Given the description of an element on the screen output the (x, y) to click on. 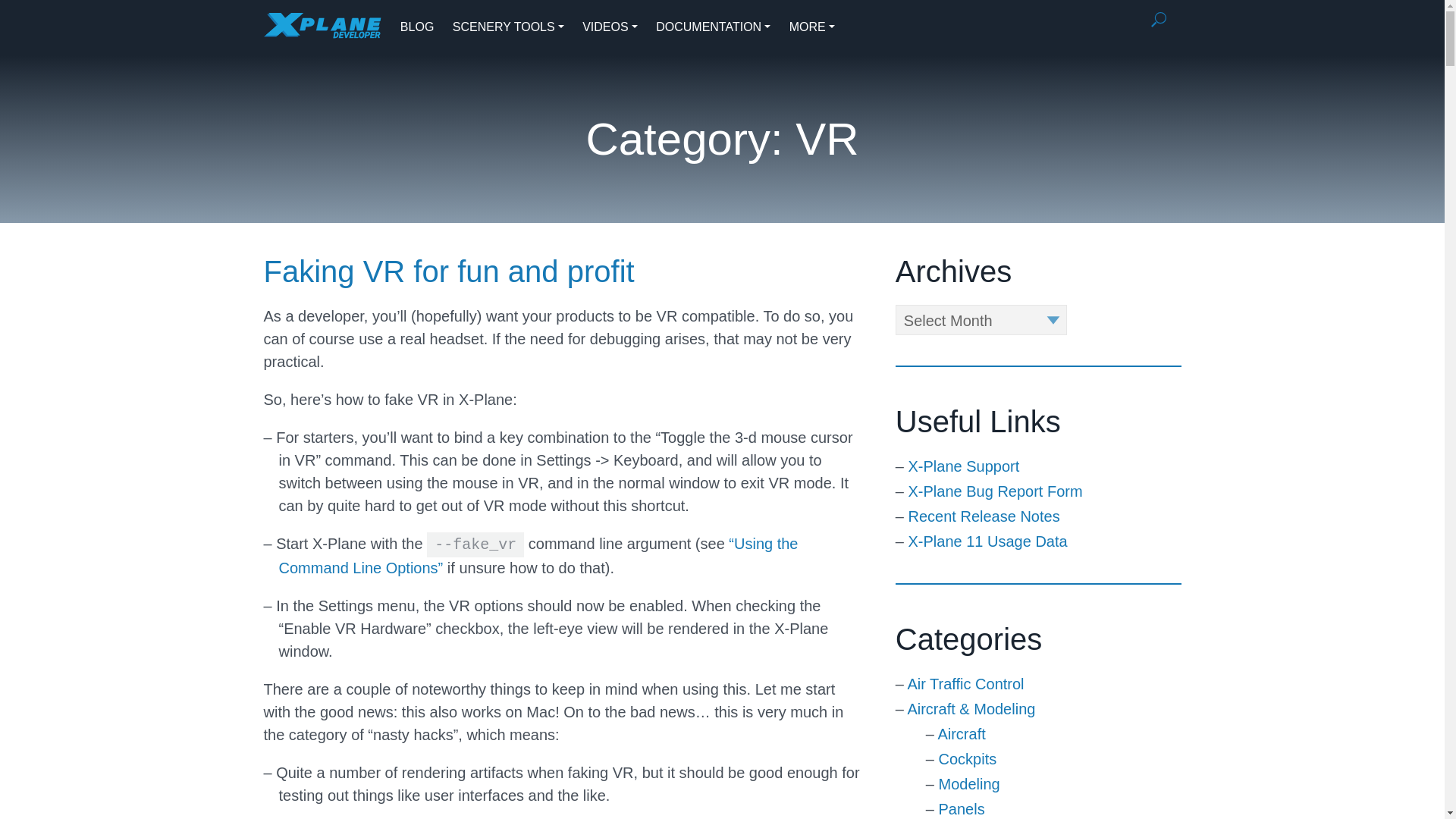
SCENERY TOOLS (508, 27)
BLOG (416, 27)
MORE (811, 27)
Search (1158, 19)
Faking VR for fun and profit (448, 271)
DOCUMENTATION (713, 27)
VIDEOS (609, 27)
X-Plane Developer (322, 25)
